Given the description of an element on the screen output the (x, y) to click on. 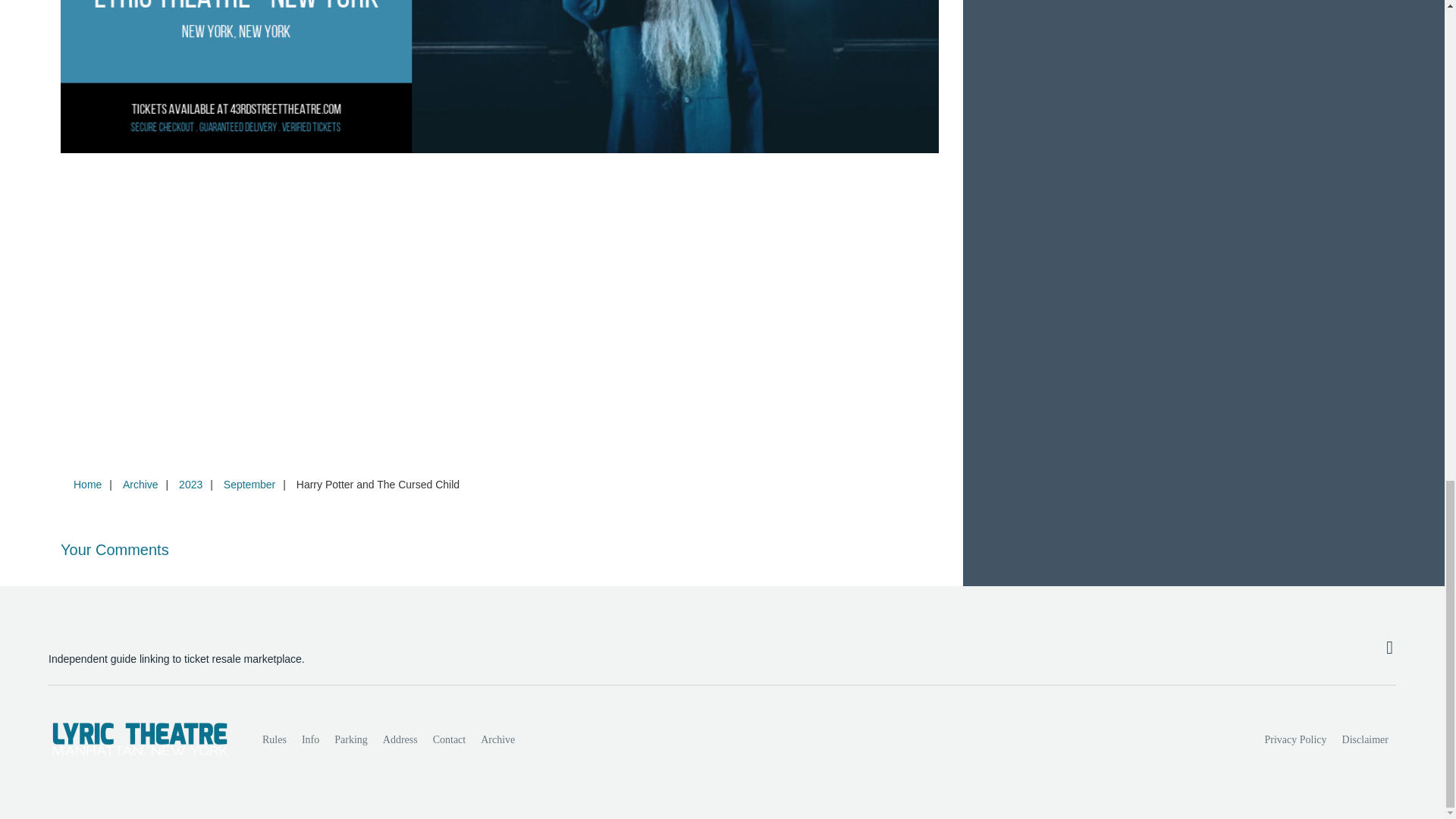
Archive (140, 484)
Home (87, 484)
Address (400, 739)
2023 (190, 484)
Rules (274, 739)
September (248, 484)
Parking (350, 739)
Contact (449, 739)
Archive (497, 739)
